Given the description of an element on the screen output the (x, y) to click on. 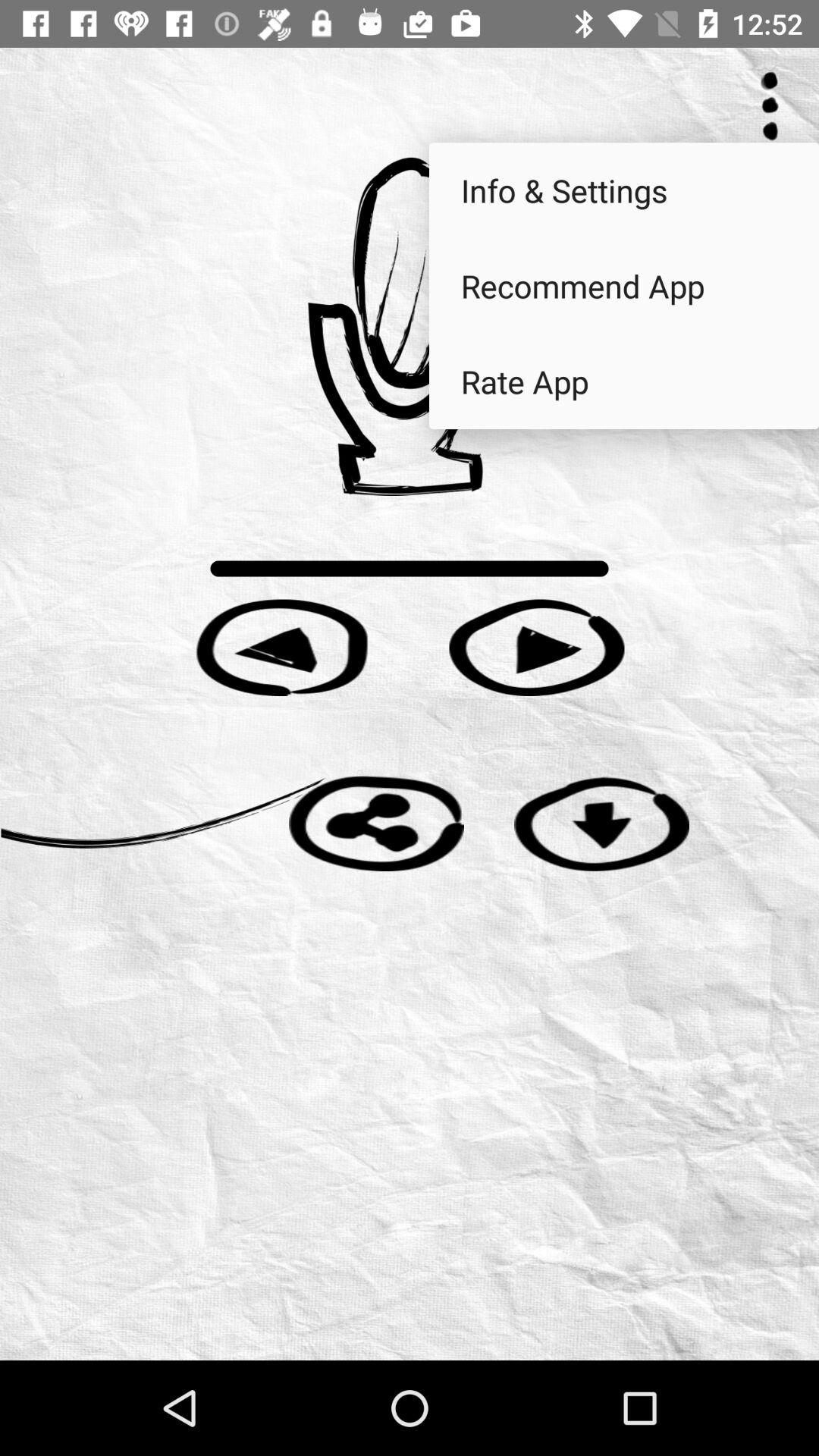
open mic settings (409, 326)
